Given the description of an element on the screen output the (x, y) to click on. 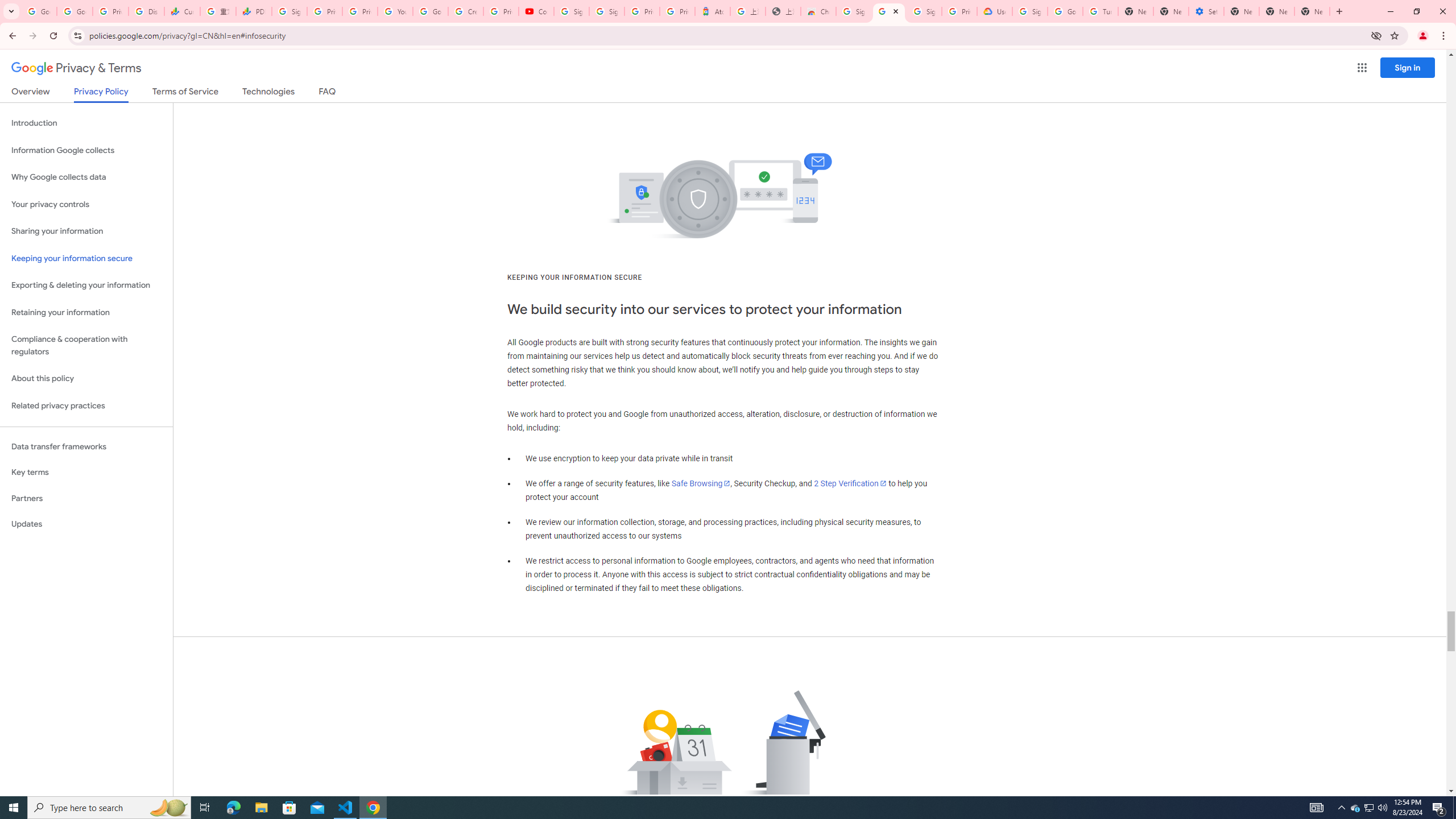
New Tab (1312, 11)
Key terms (86, 472)
Sign in - Google Accounts (571, 11)
